Given the description of an element on the screen output the (x, y) to click on. 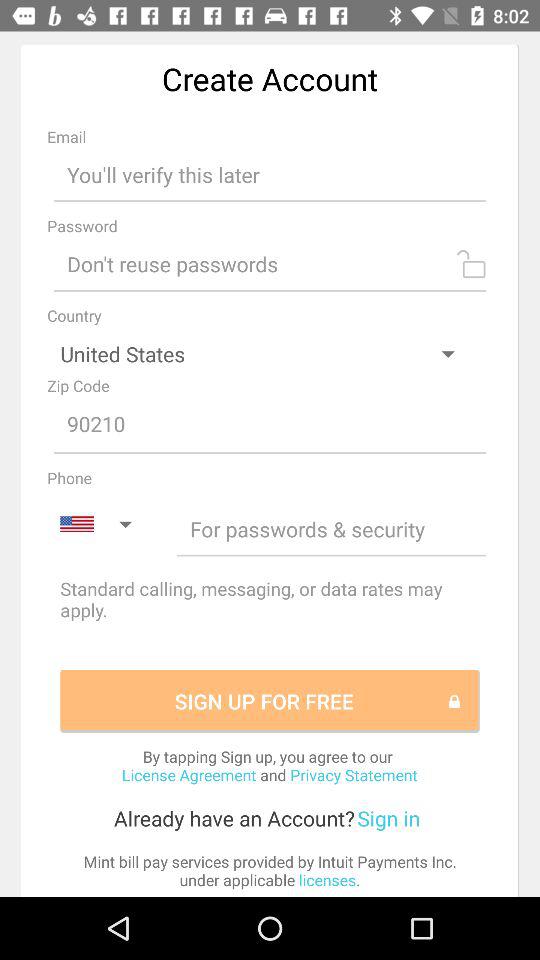
enter password (270, 263)
